Given the description of an element on the screen output the (x, y) to click on. 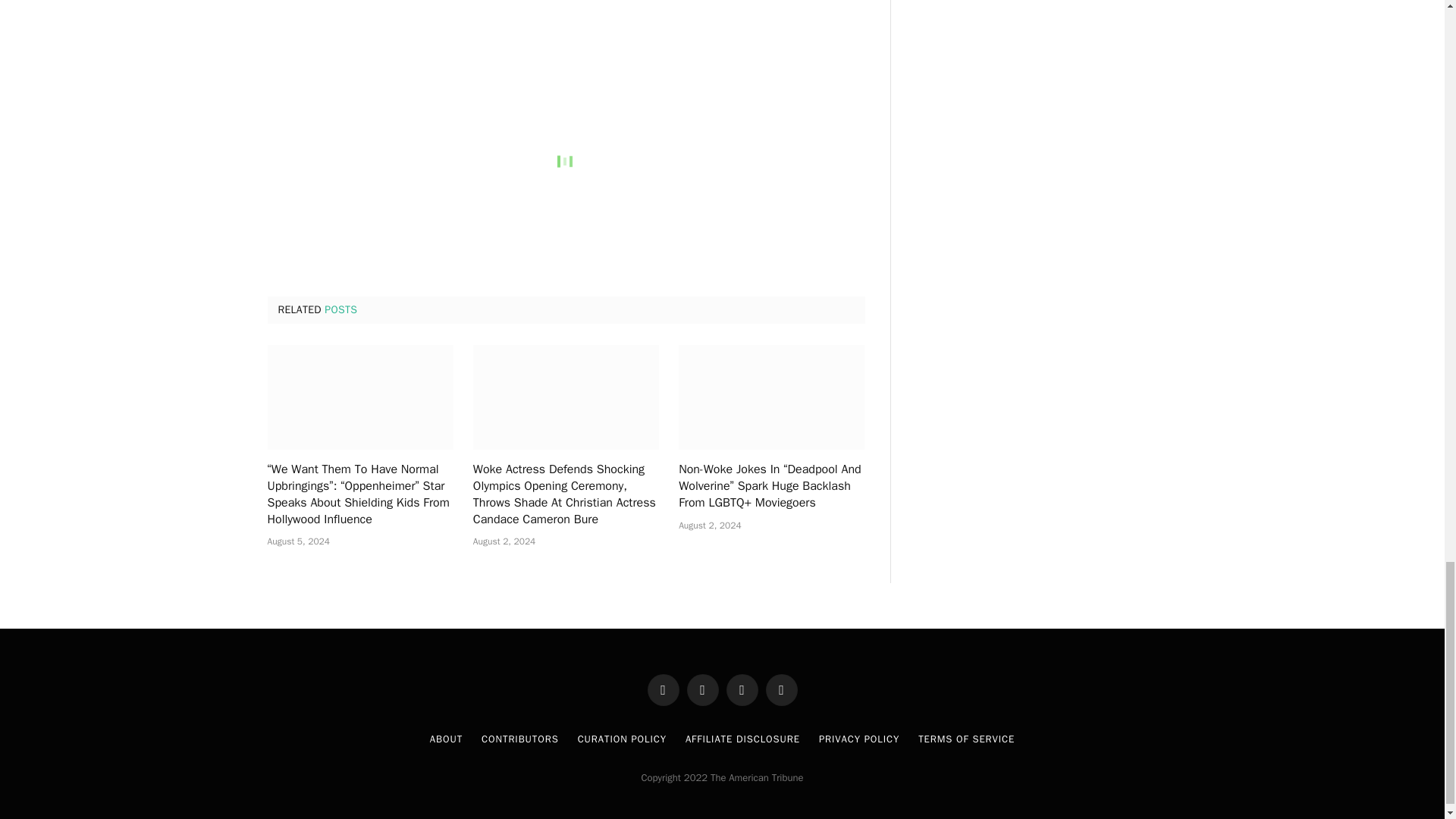
Facebook (663, 689)
